Given the description of an element on the screen output the (x, y) to click on. 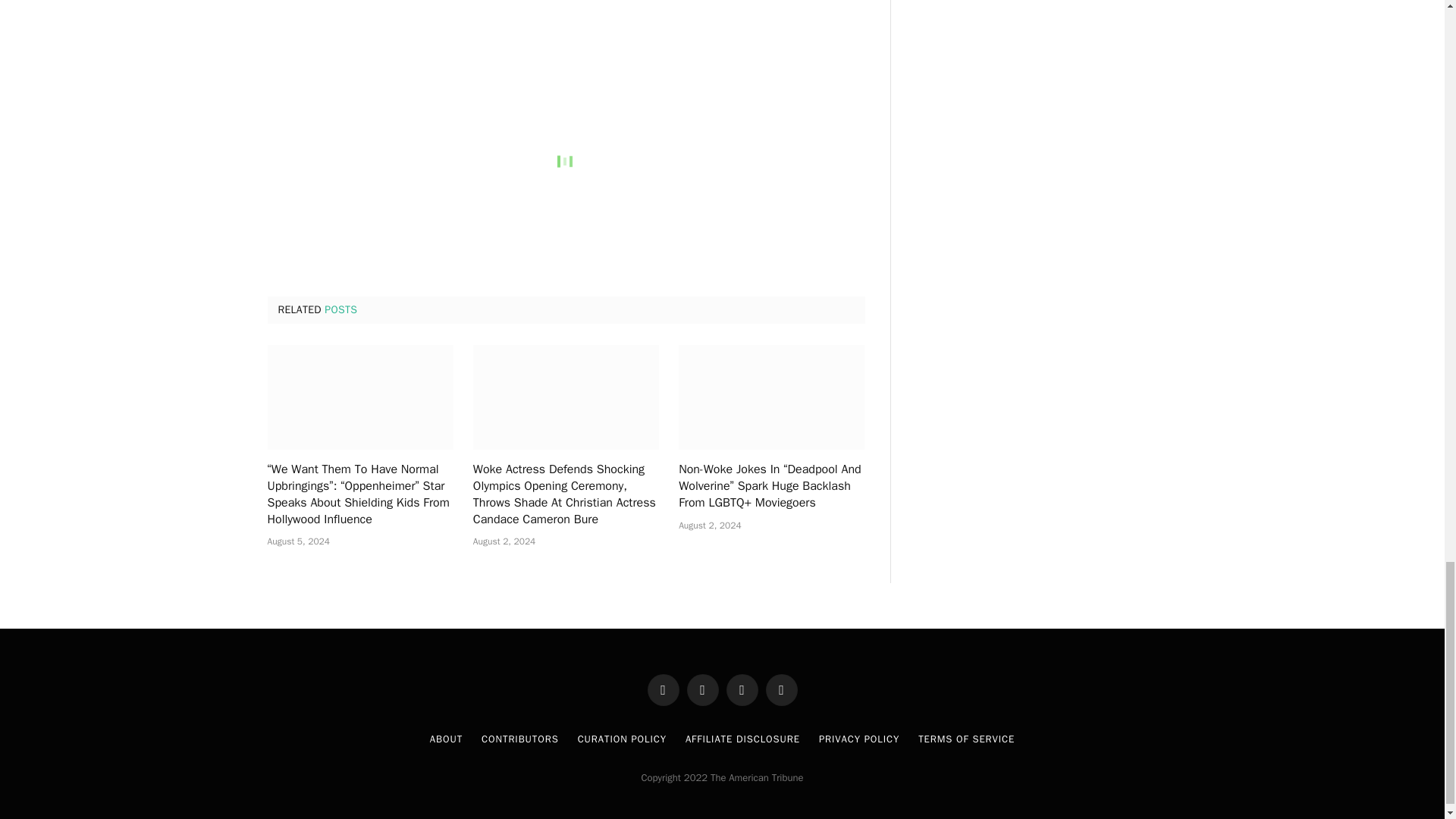
Facebook (663, 689)
